Given the description of an element on the screen output the (x, y) to click on. 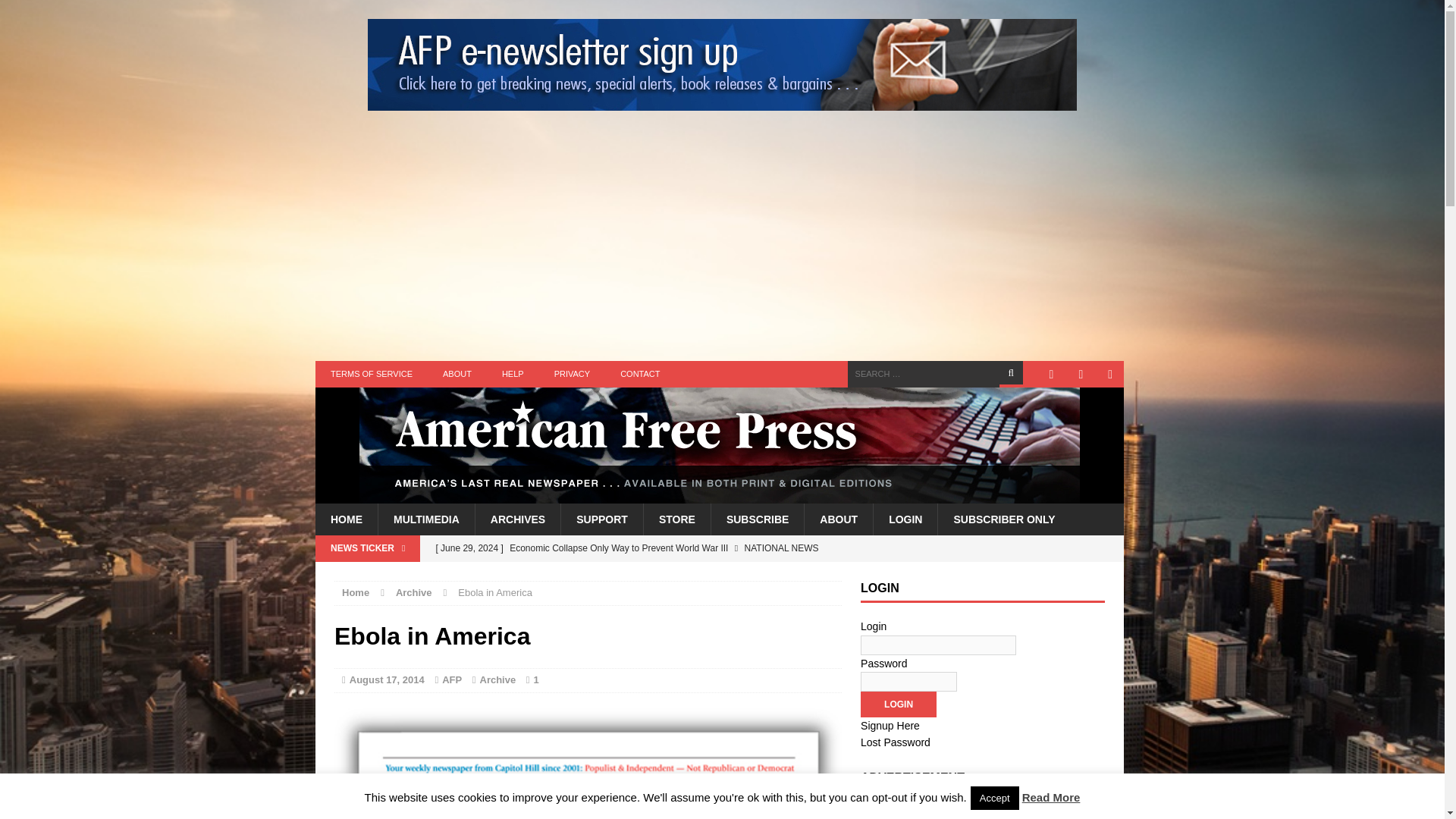
ABOUT (837, 519)
SUBSCRIBER ONLY (1003, 519)
HELP (512, 374)
ARCHIVES (517, 519)
Login (898, 704)
ABOUT (457, 374)
HOME (346, 519)
PRIVACY (571, 374)
STORE (676, 519)
Economic Collapse Only Way to Prevent World War III (633, 548)
Anti-WHO Declaration, Legislation Passed (633, 574)
MULTIMEDIA (425, 519)
SUPPORT (601, 519)
American Free Press (719, 445)
